Given the description of an element on the screen output the (x, y) to click on. 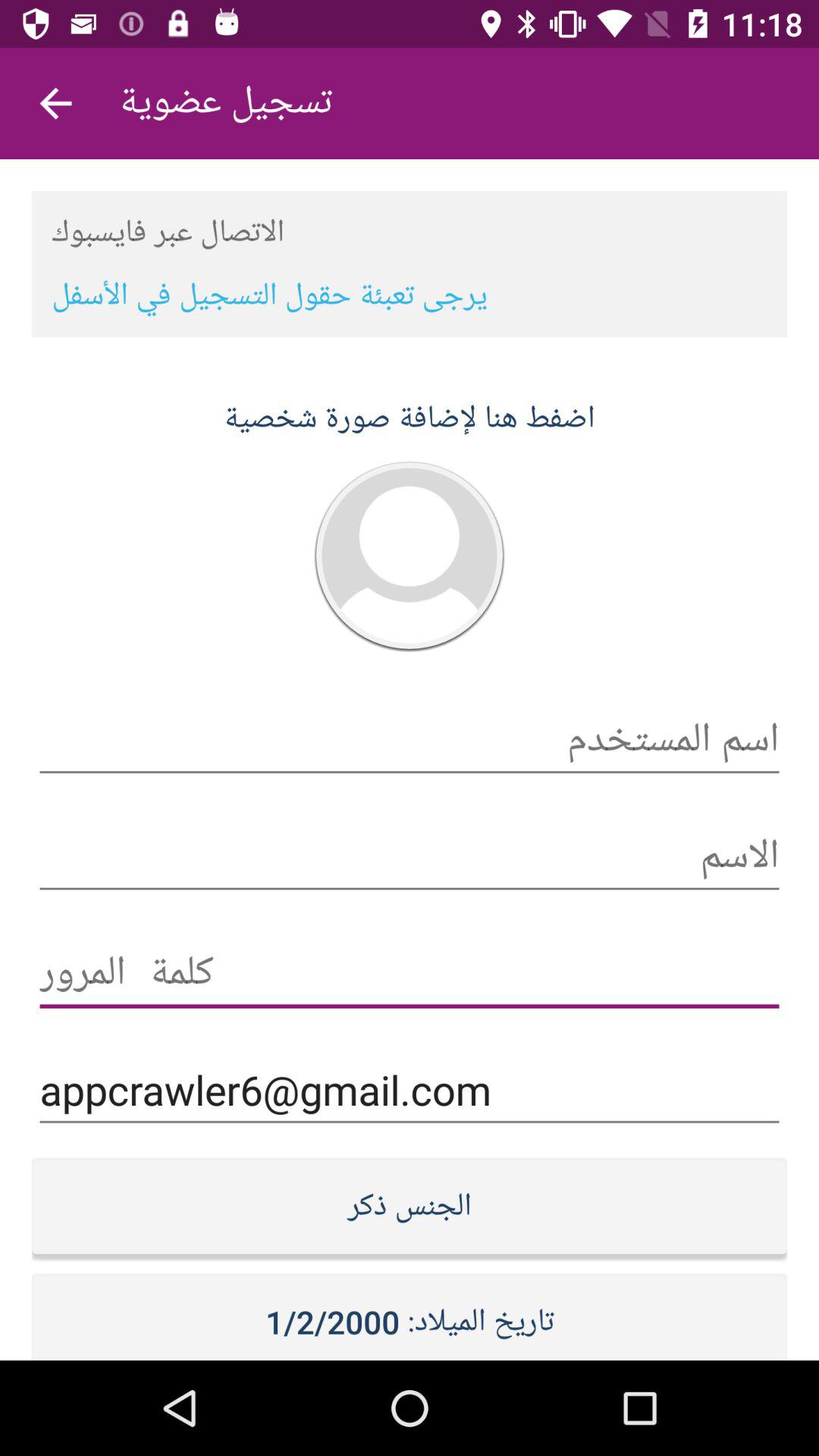
choose the item below appcrawler6@gmail.com item (409, 1206)
